Given the description of an element on the screen output the (x, y) to click on. 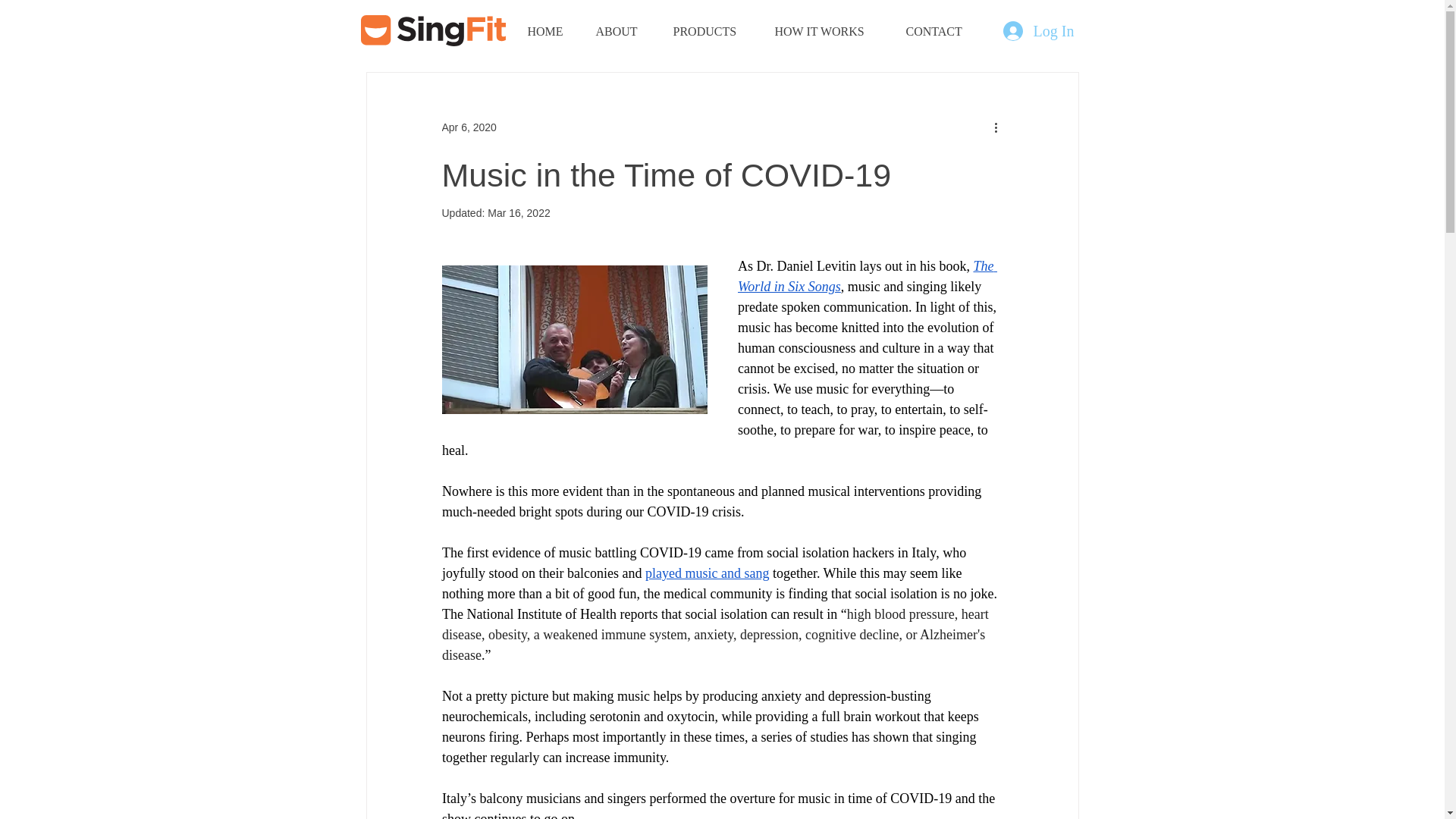
Log In (1036, 30)
played music and sang (706, 572)
Mar 16, 2022 (518, 213)
HOME (549, 31)
CONTACT (941, 31)
Apr 6, 2020 (468, 127)
The World in Six Songs (865, 276)
